Given the description of an element on the screen output the (x, y) to click on. 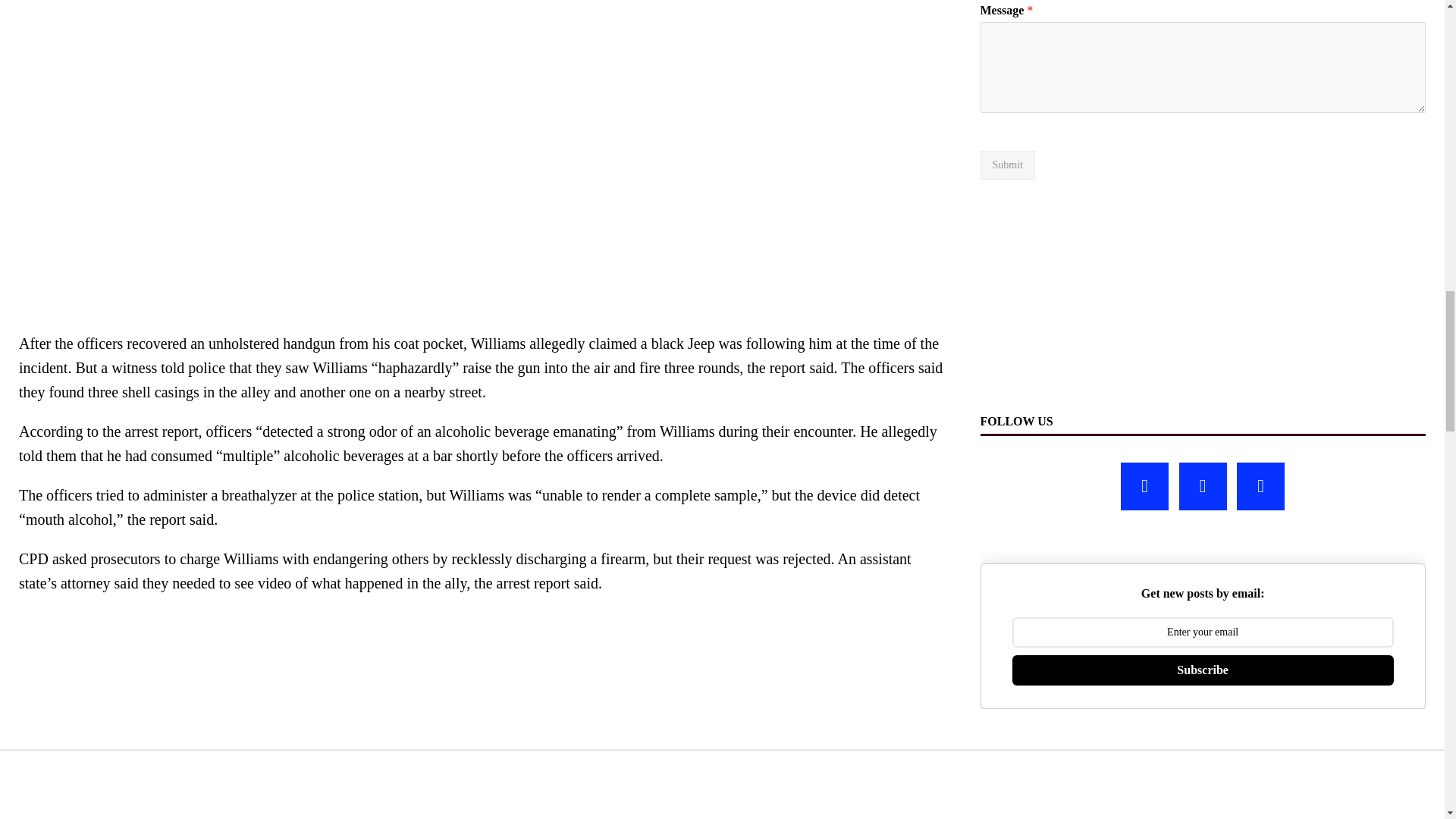
Subscribe (1202, 670)
Submit (1007, 164)
